Given the description of an element on the screen output the (x, y) to click on. 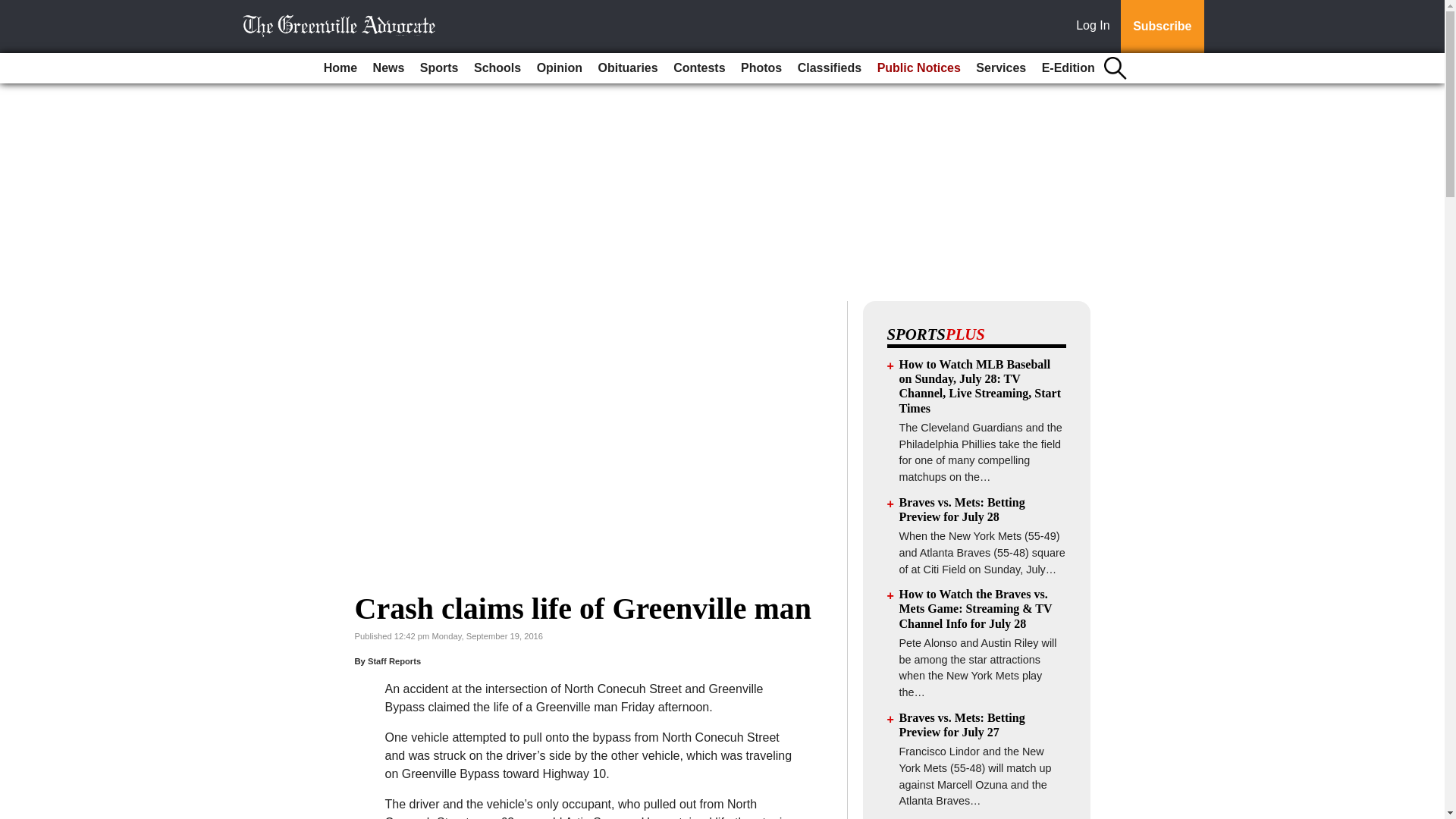
Subscribe (1162, 26)
Obituaries (627, 68)
Schools (497, 68)
Services (1000, 68)
News (388, 68)
Photos (761, 68)
E-Edition (1067, 68)
Log In (1095, 26)
Braves vs. Mets: Betting Preview for July 28 (962, 509)
Classifieds (829, 68)
Opinion (559, 68)
Home (339, 68)
Public Notices (918, 68)
Go (13, 9)
